Given the description of an element on the screen output the (x, y) to click on. 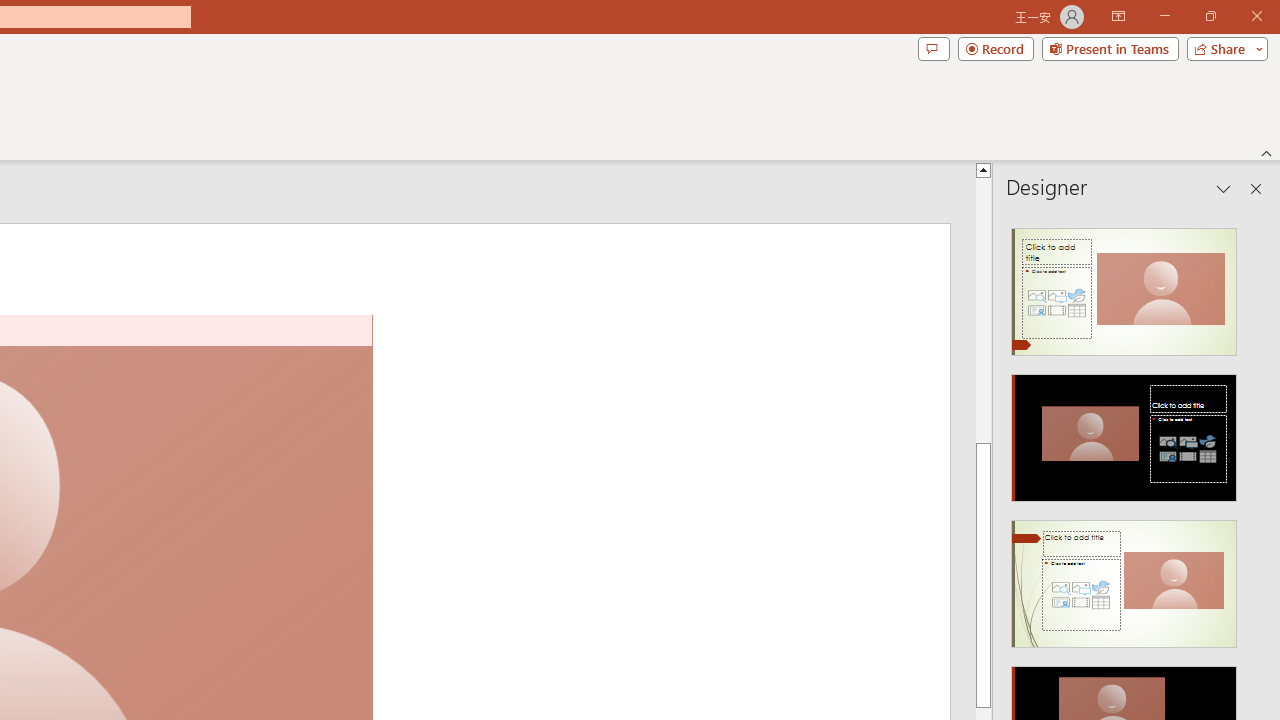
Line up (1271, 169)
